Given the description of an element on the screen output the (x, y) to click on. 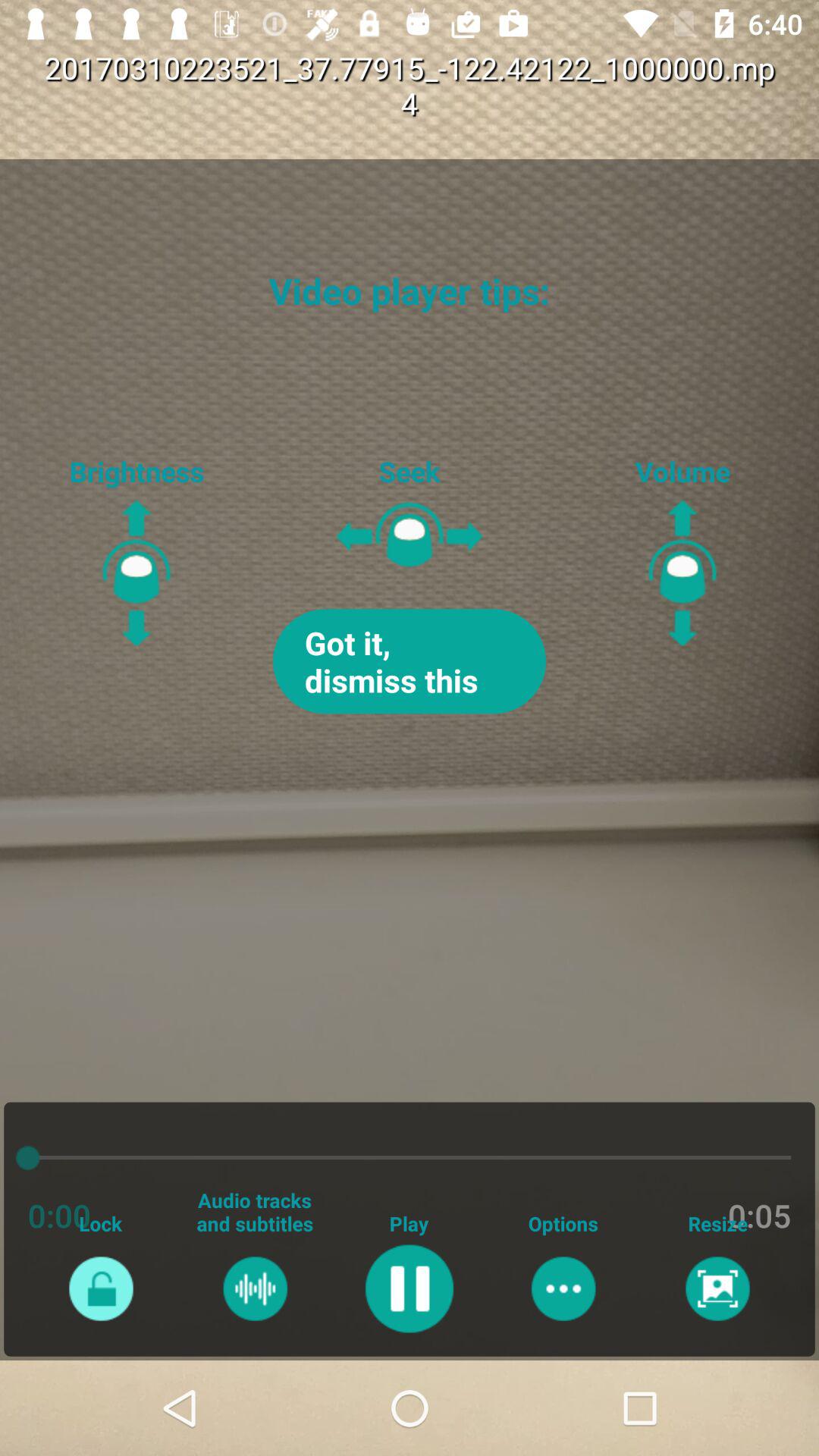
play/pause toggle (409, 1288)
